Given the description of an element on the screen output the (x, y) to click on. 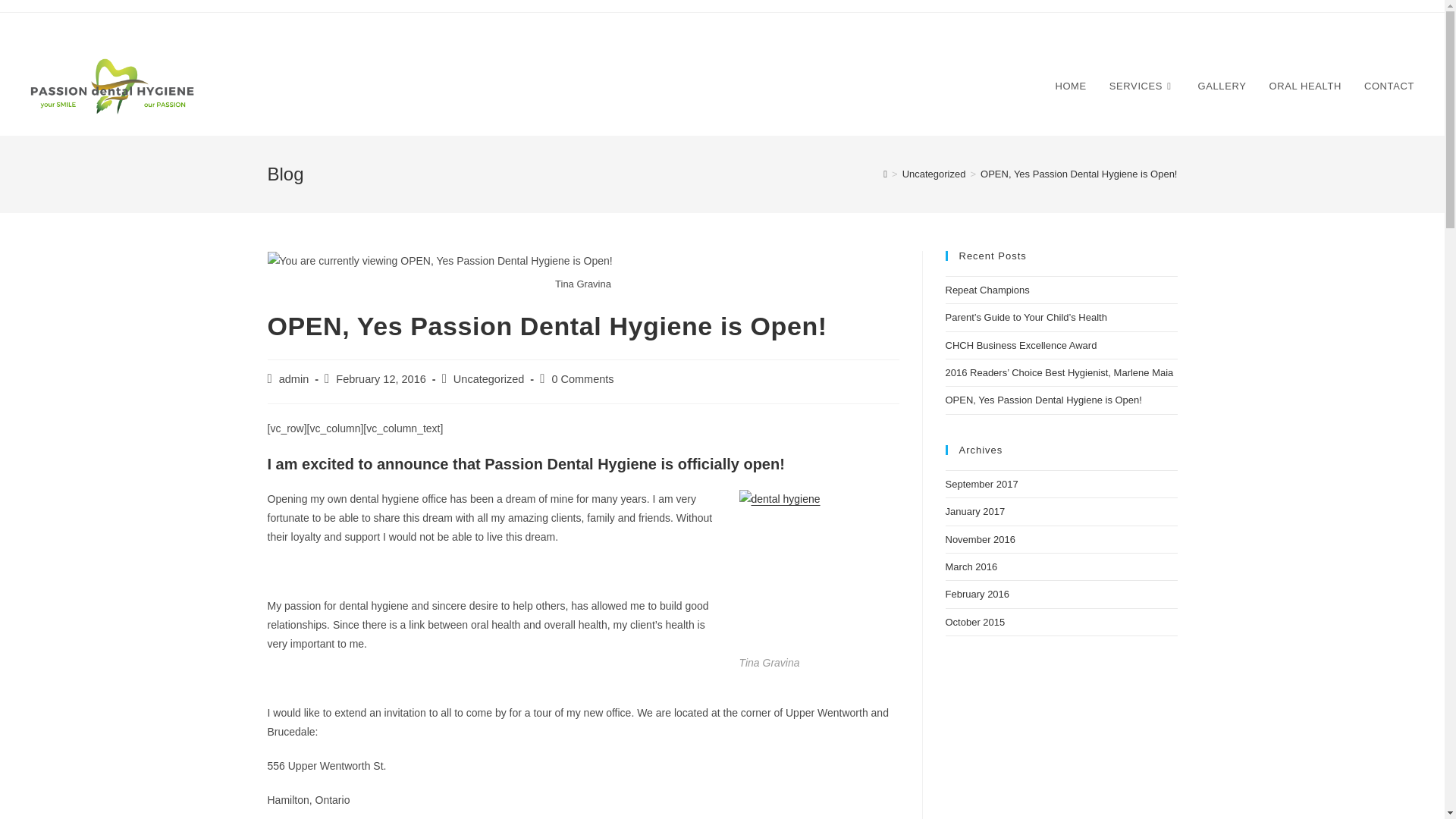
CONTACT (1388, 86)
March 2016 (970, 566)
Posts by admin (293, 378)
OPEN, Yes Passion Dental Hygiene is Open! (1077, 173)
CHCH Business Excellence Award (1020, 345)
admin (293, 378)
GALLERY (1221, 86)
Uncategorized (488, 378)
November 2016 (979, 539)
SERVICES (1141, 86)
Uncategorized (934, 173)
OPEN, Yes Passion Dental Hygiene is Open! (1042, 399)
January 2017 (974, 511)
0 Comments (581, 378)
Repeat Champions (986, 289)
